Given the description of an element on the screen output the (x, y) to click on. 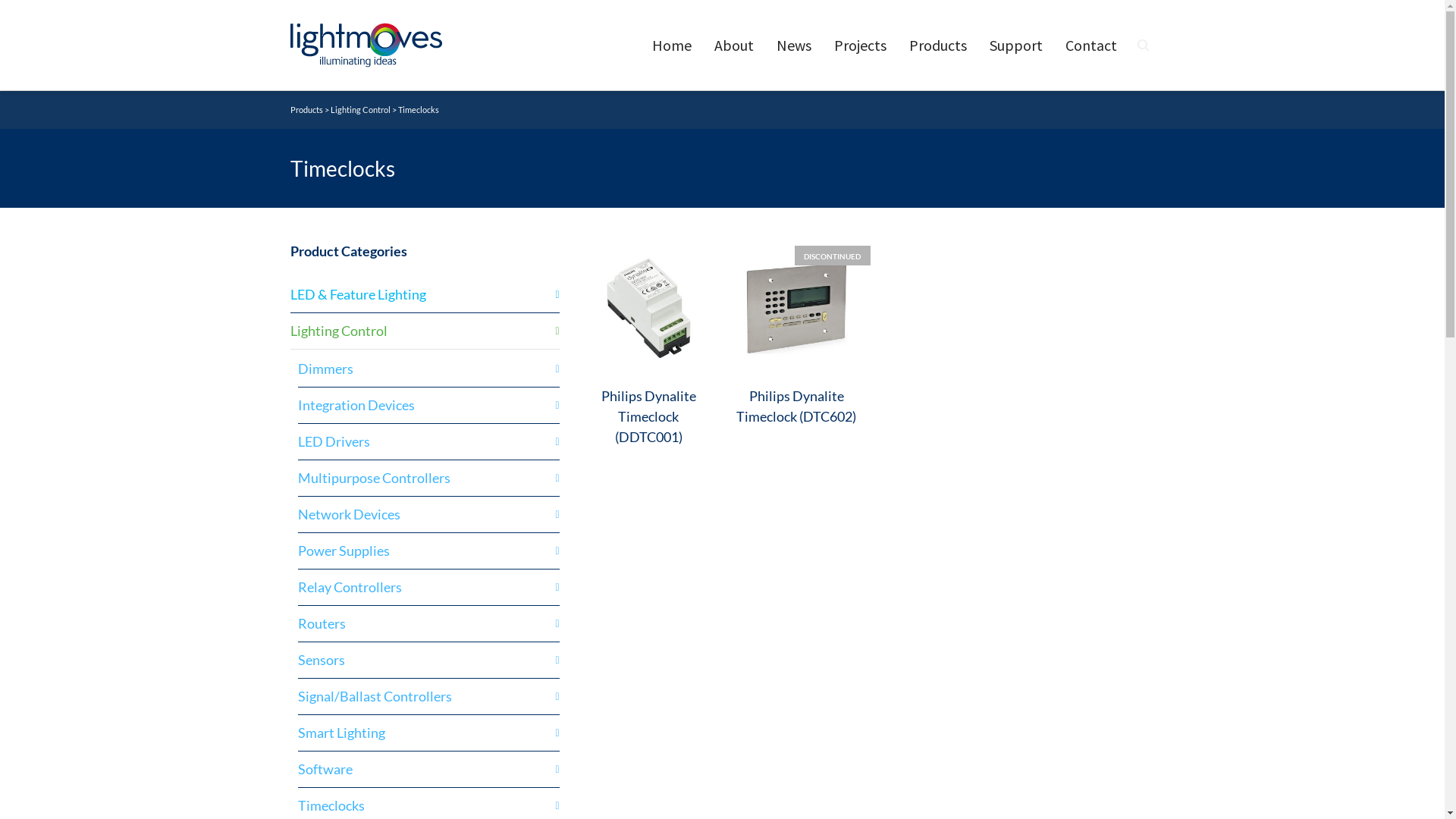
Support Element type: text (1016, 45)
Multipurpose Controllers Element type: text (427, 477)
Lighting Control Element type: text (360, 109)
Products Element type: text (937, 45)
Integration Devices Element type: text (427, 405)
Lighting Control Element type: text (423, 330)
Signal/Ballast Controllers Element type: text (427, 696)
Relay Controllers Element type: text (427, 587)
About Element type: text (733, 45)
Power Supplies Element type: text (427, 550)
Routers Element type: text (427, 623)
Projects Element type: text (859, 45)
Products Element type: text (305, 109)
LED & Feature Lighting Element type: text (423, 294)
Contact Element type: text (1091, 45)
Philips Dynalite Timeclock (DTC602) Element type: text (796, 405)
LED Drivers Element type: text (427, 441)
Philips Dynalite Timeclock (DDTC001) Element type: text (647, 416)
Sensors Element type: text (427, 659)
News Element type: text (793, 45)
Smart Lighting Element type: text (427, 732)
Network Devices Element type: text (427, 514)
Dimmers Element type: text (427, 368)
Home Element type: text (671, 45)
Software Element type: text (427, 769)
